Given the description of an element on the screen output the (x, y) to click on. 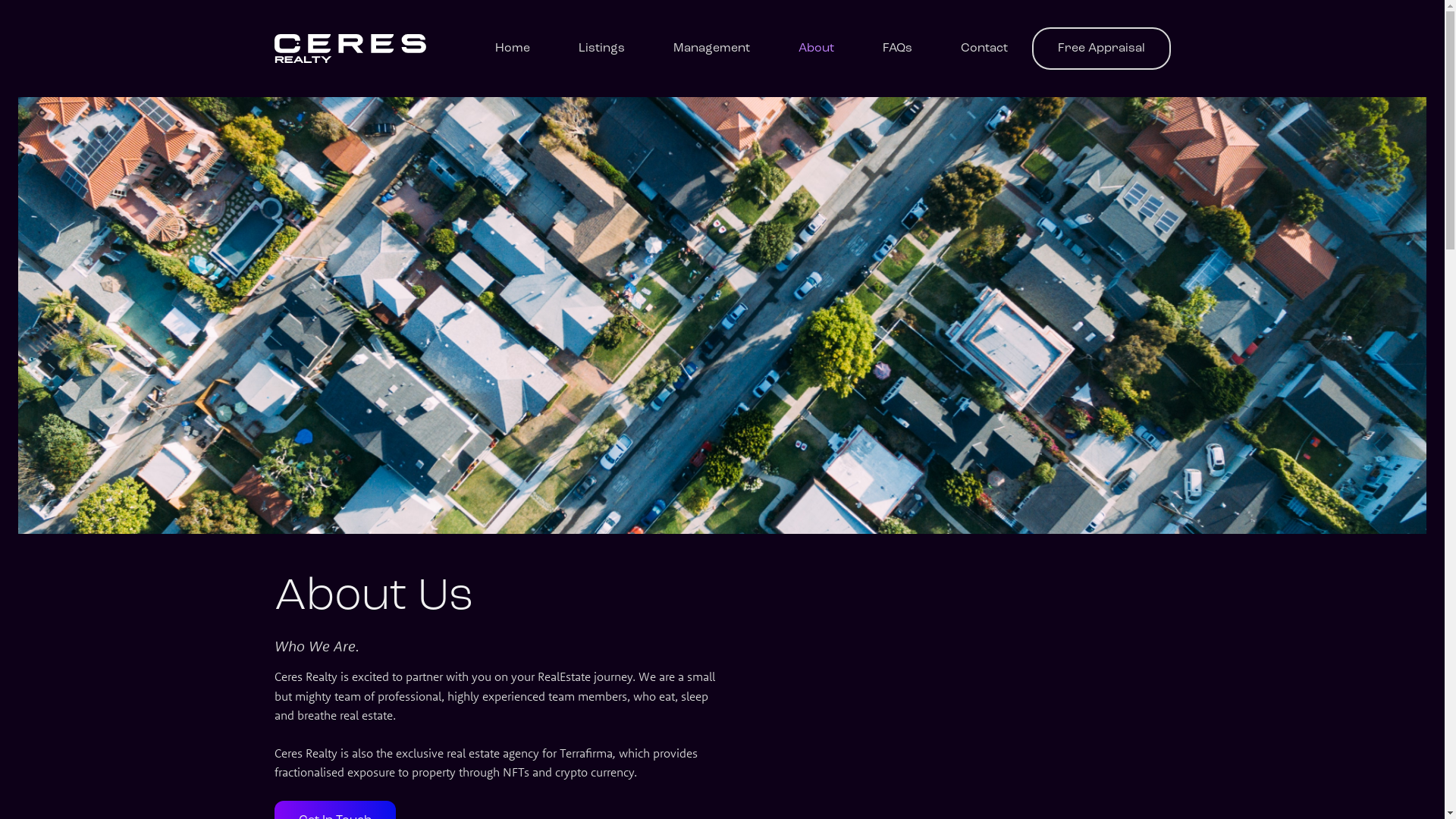
Contact Element type: text (983, 48)
Home Element type: text (511, 48)
FAQs Element type: text (897, 48)
About Element type: text (815, 48)
Free Appraisal Element type: text (1100, 48)
Listings Element type: text (600, 48)
Management Element type: text (711, 48)
